Given the description of an element on the screen output the (x, y) to click on. 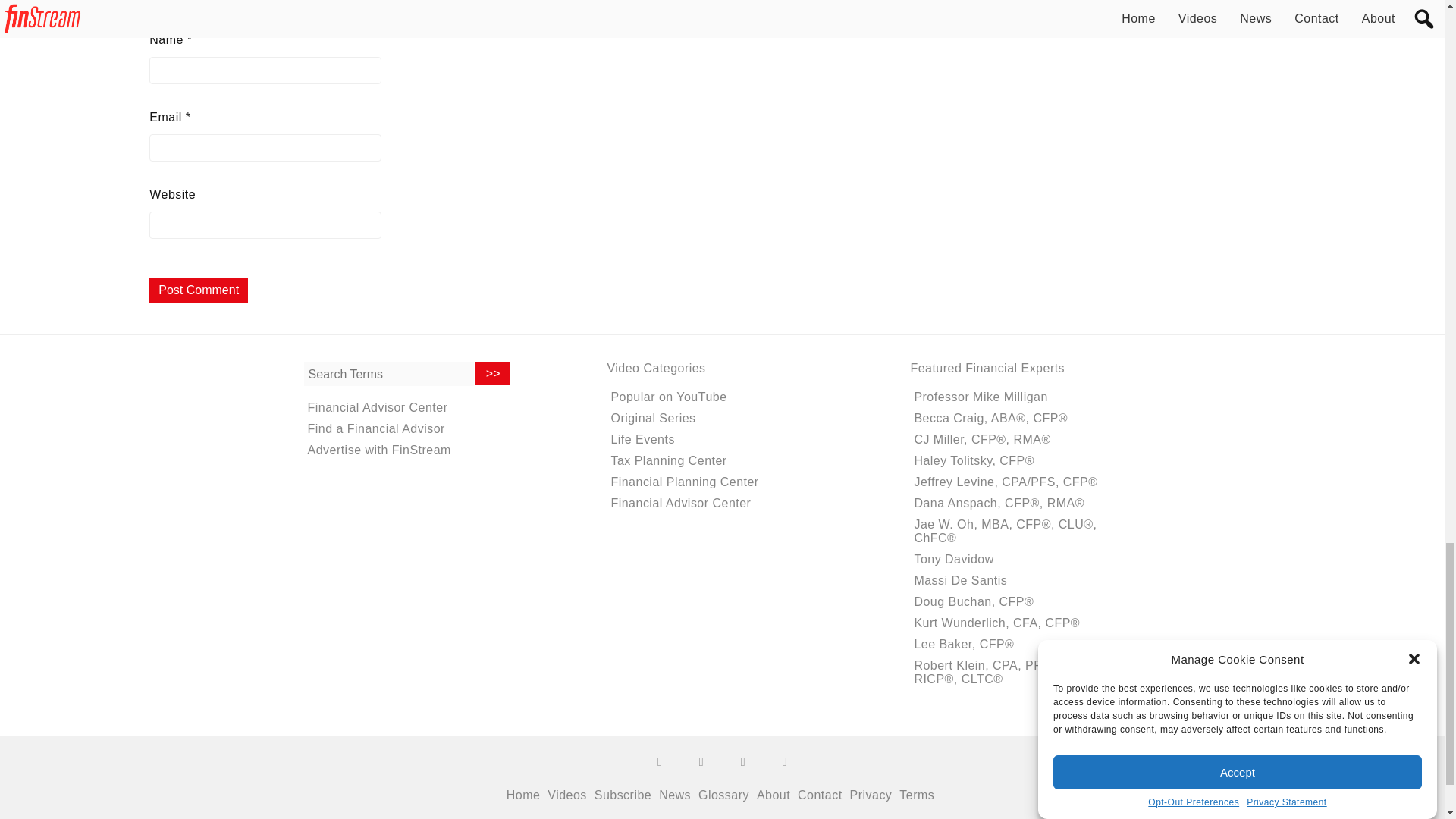
Post Comment (198, 290)
Post Comment (198, 290)
